Given the description of an element on the screen output the (x, y) to click on. 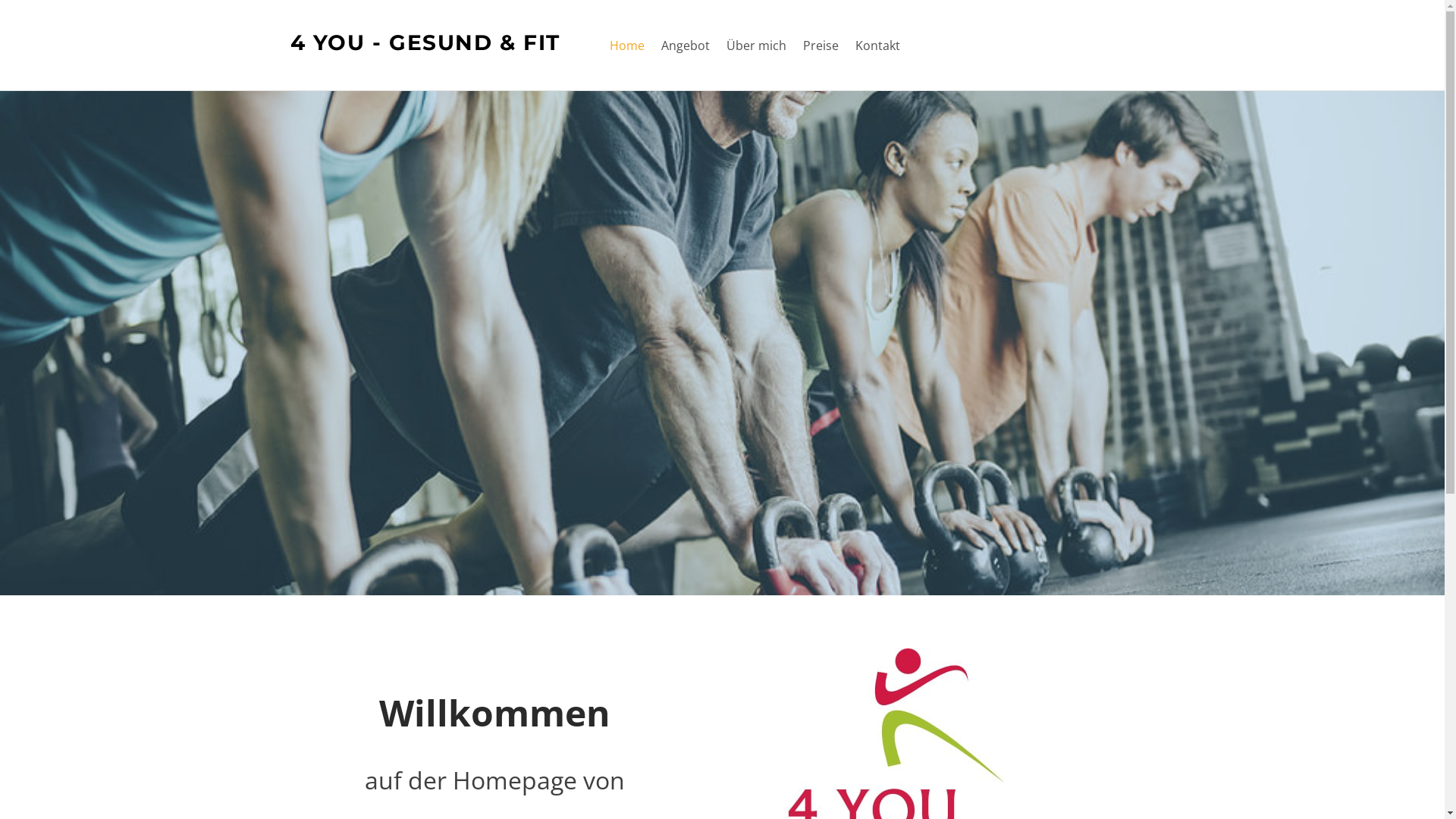
Preise Element type: text (820, 45)
Kontakt Element type: text (877, 45)
4 YOU - GESUND & FIT Element type: text (424, 45)
Home Element type: text (626, 45)
Angebot Element type: text (685, 45)
